Given the description of an element on the screen output the (x, y) to click on. 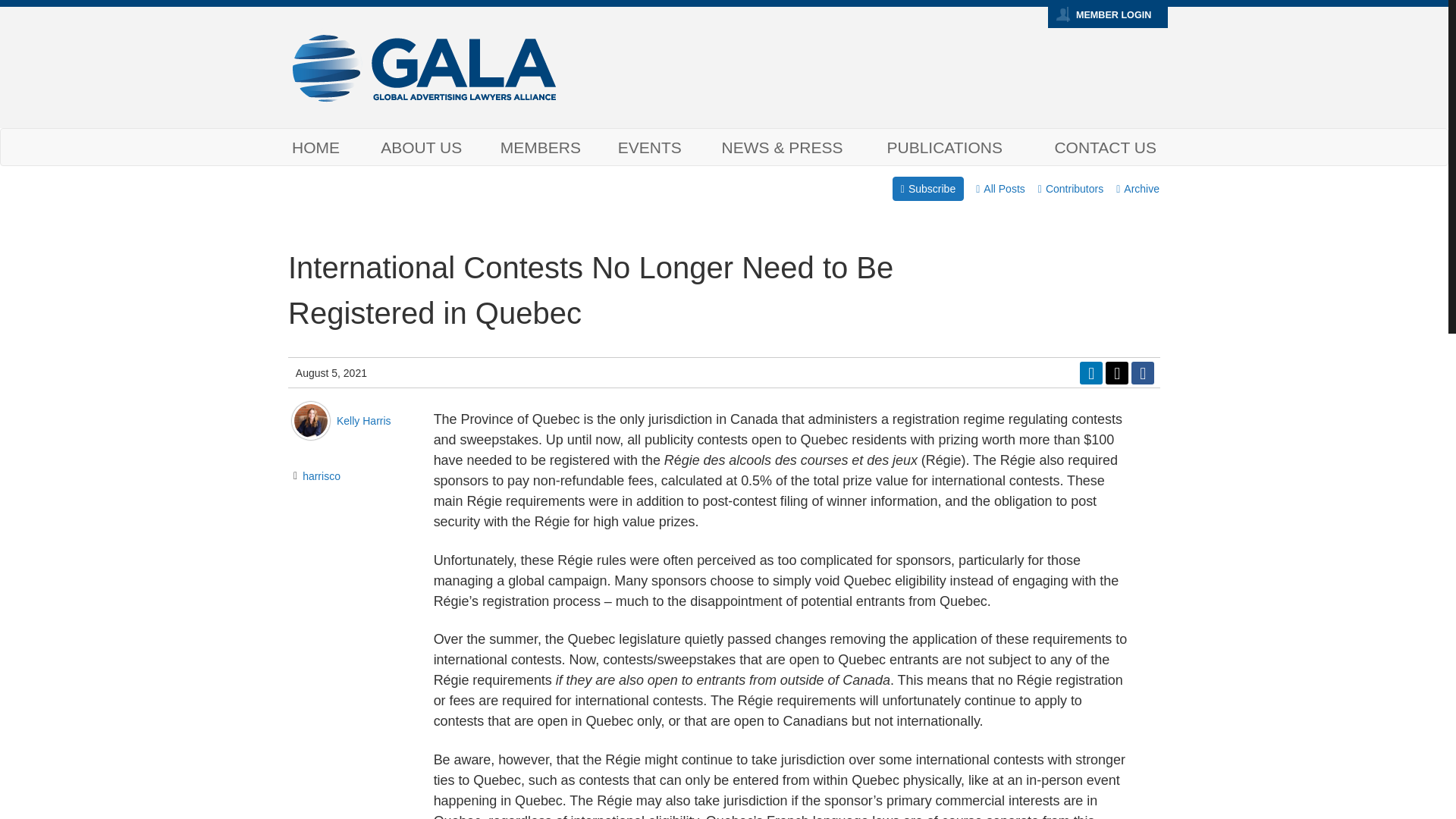
Archive (1137, 188)
Contributors (1069, 188)
PUBLICATIONS (944, 147)
HOME (321, 147)
EVENTS (648, 147)
Subscribe (927, 188)
MEMBERS (540, 147)
All Posts (1000, 188)
MEMBER LOGIN (1113, 14)
ABOUT US (421, 147)
